Given the description of an element on the screen output the (x, y) to click on. 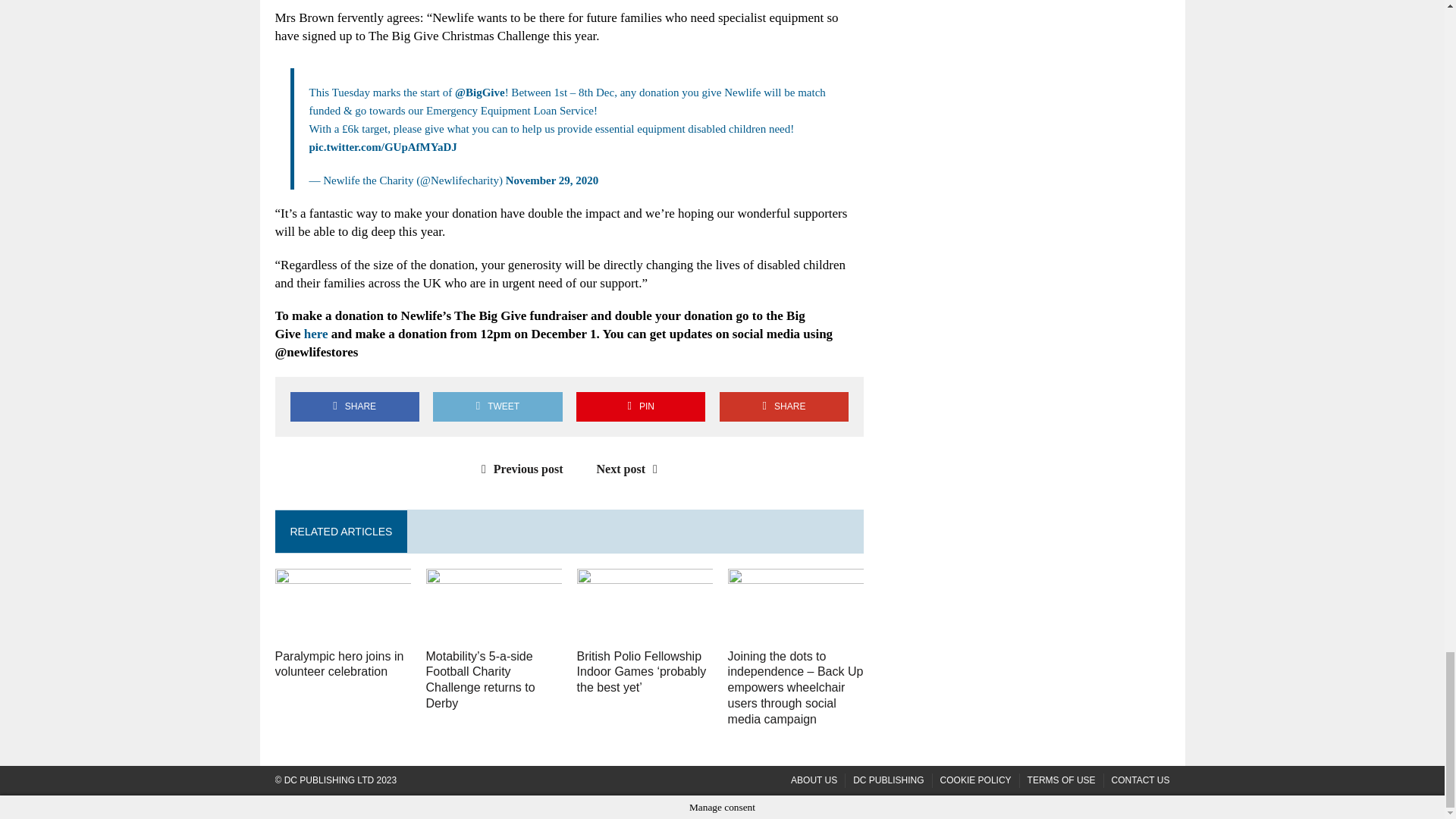
Pin This Post (640, 406)
Share on Facebook (354, 406)
Tweet This Post (497, 406)
